Given the description of an element on the screen output the (x, y) to click on. 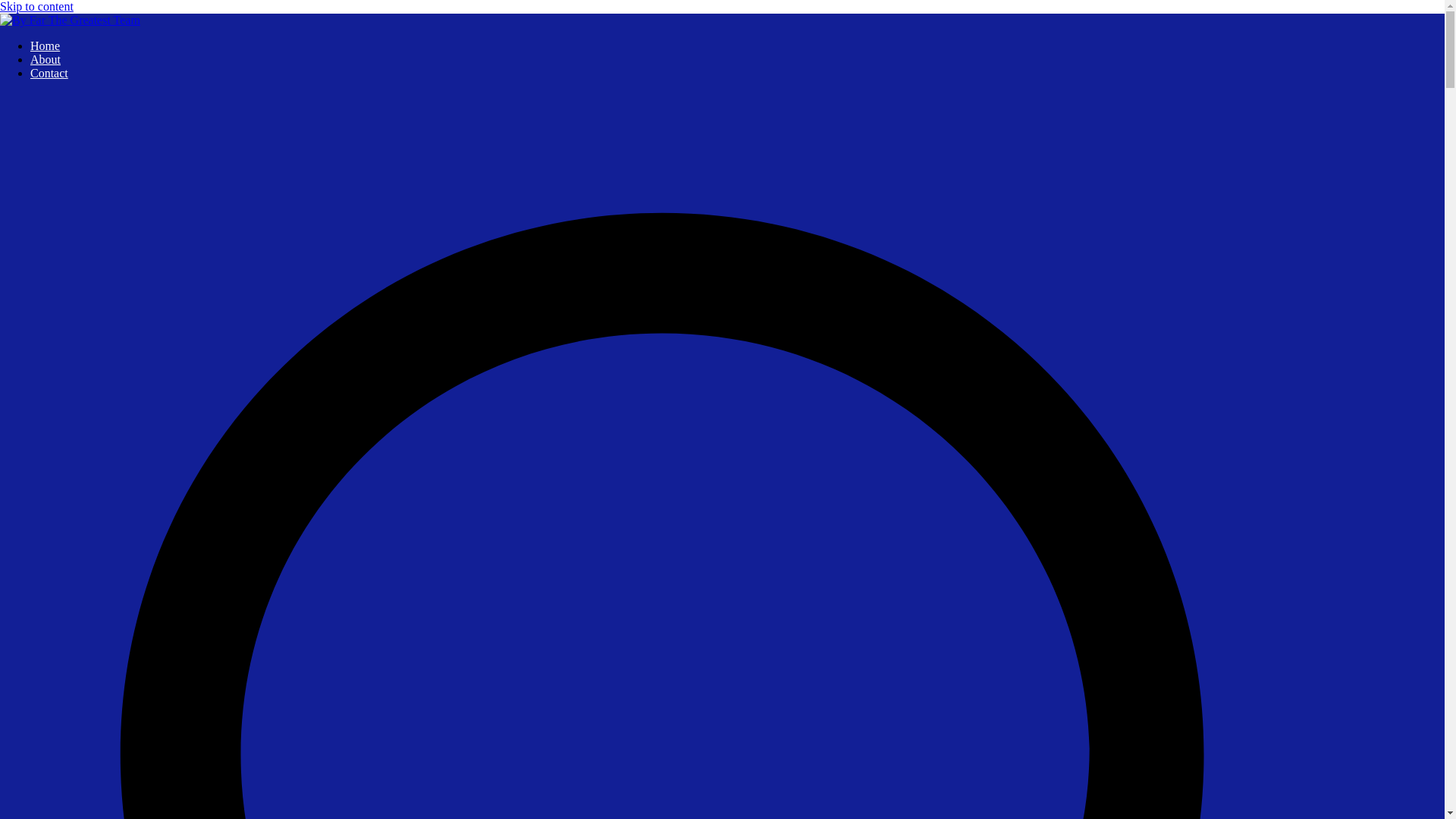
Home (44, 45)
About (45, 59)
By Far The Greatest Team (64, 45)
Contact (49, 72)
Skip to content (37, 6)
